Given the description of an element on the screen output the (x, y) to click on. 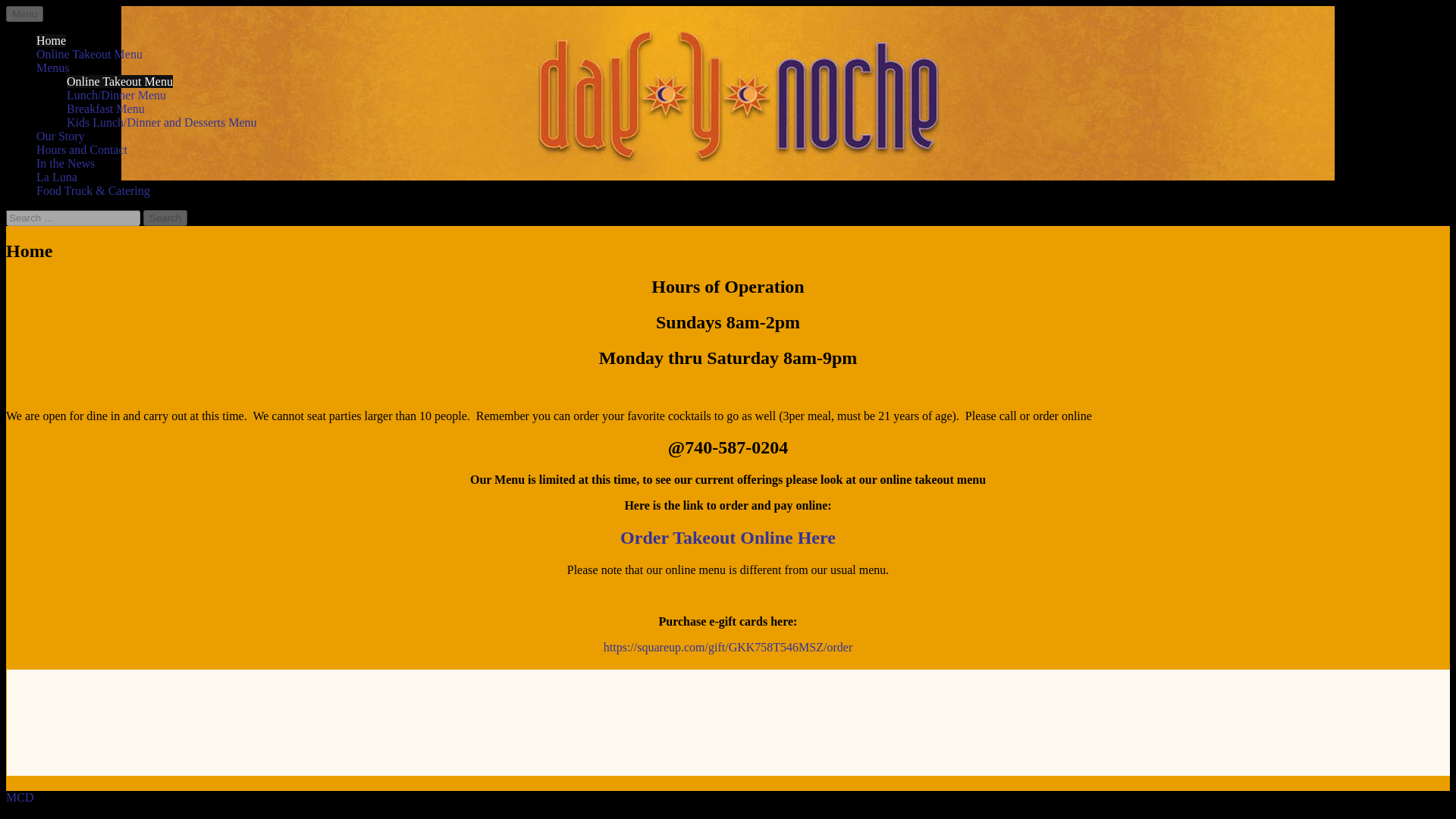
Order Takeout Online Here (727, 537)
Hours and Contact (82, 149)
Search (164, 217)
Menu (24, 13)
Online Takeout Menu (89, 53)
Breakfast Menu (105, 108)
Search (164, 217)
La Luna (56, 176)
Our Story (60, 135)
In the News (65, 163)
